Given the description of an element on the screen output the (x, y) to click on. 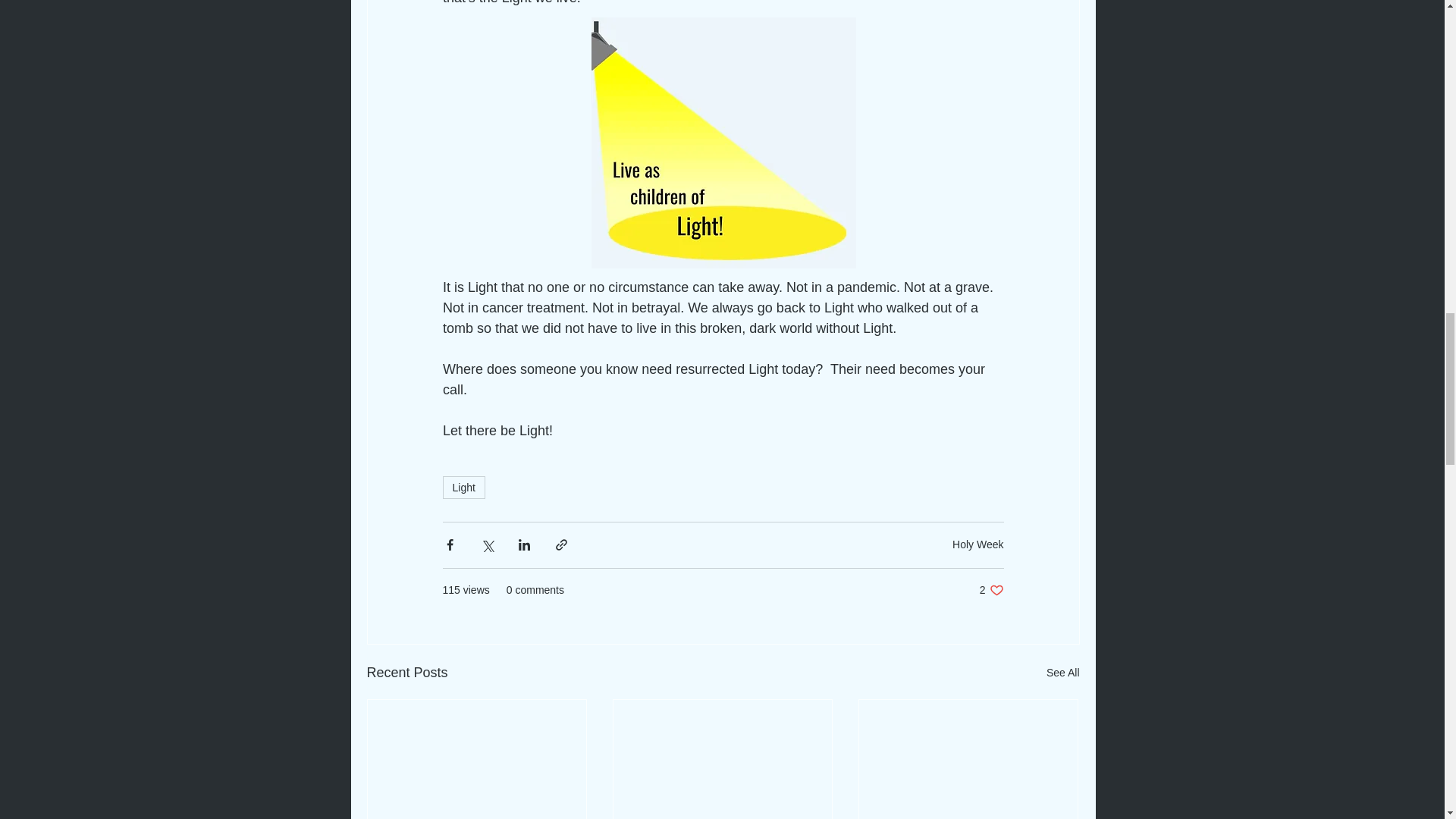
See All (991, 590)
Light (1063, 672)
Holy Week (463, 486)
